Given the description of an element on the screen output the (x, y) to click on. 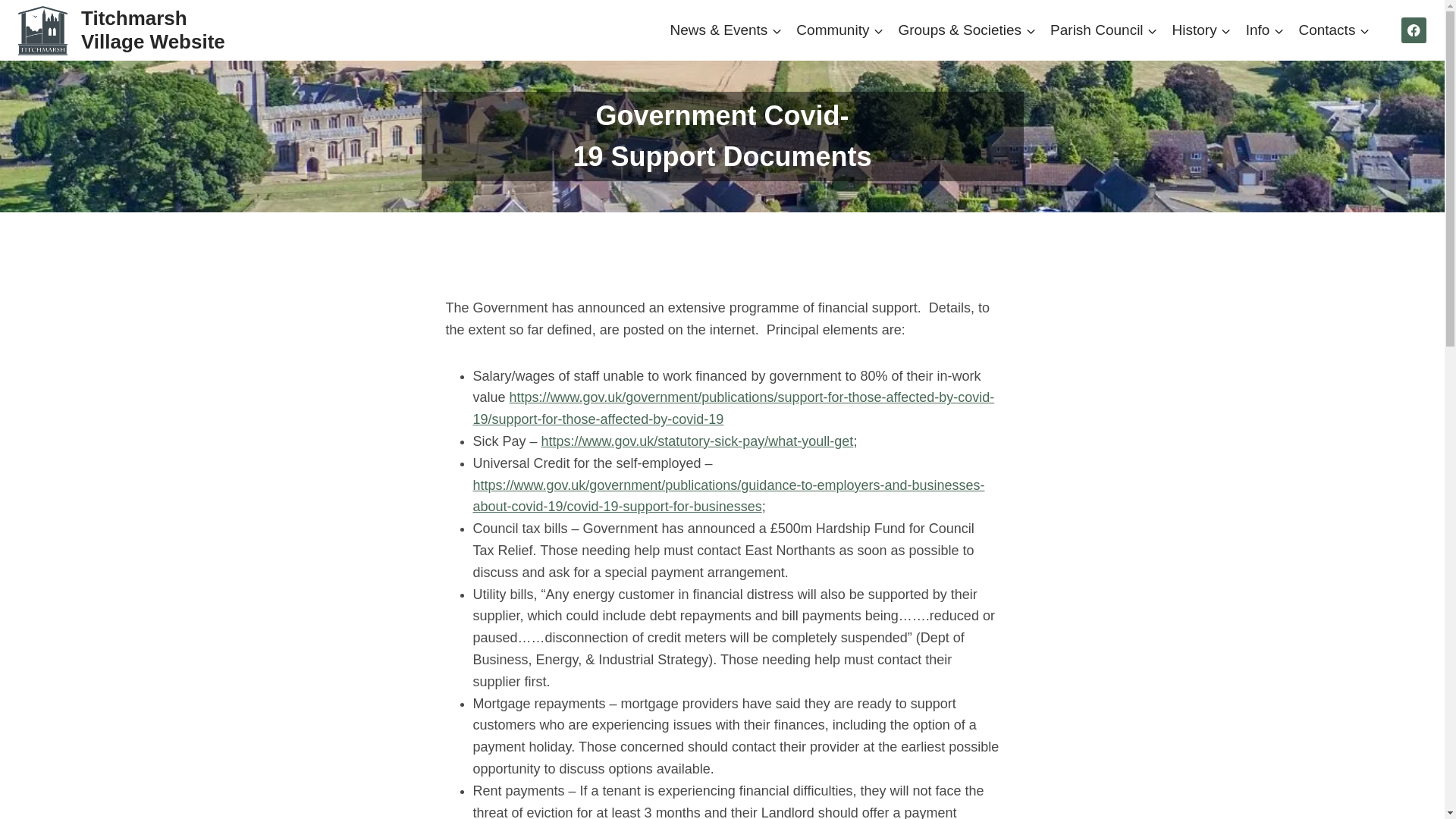
Parish Council (1104, 29)
Titchmarsh Village Website (124, 30)
Community (840, 29)
History (1201, 29)
